Given the description of an element on the screen output the (x, y) to click on. 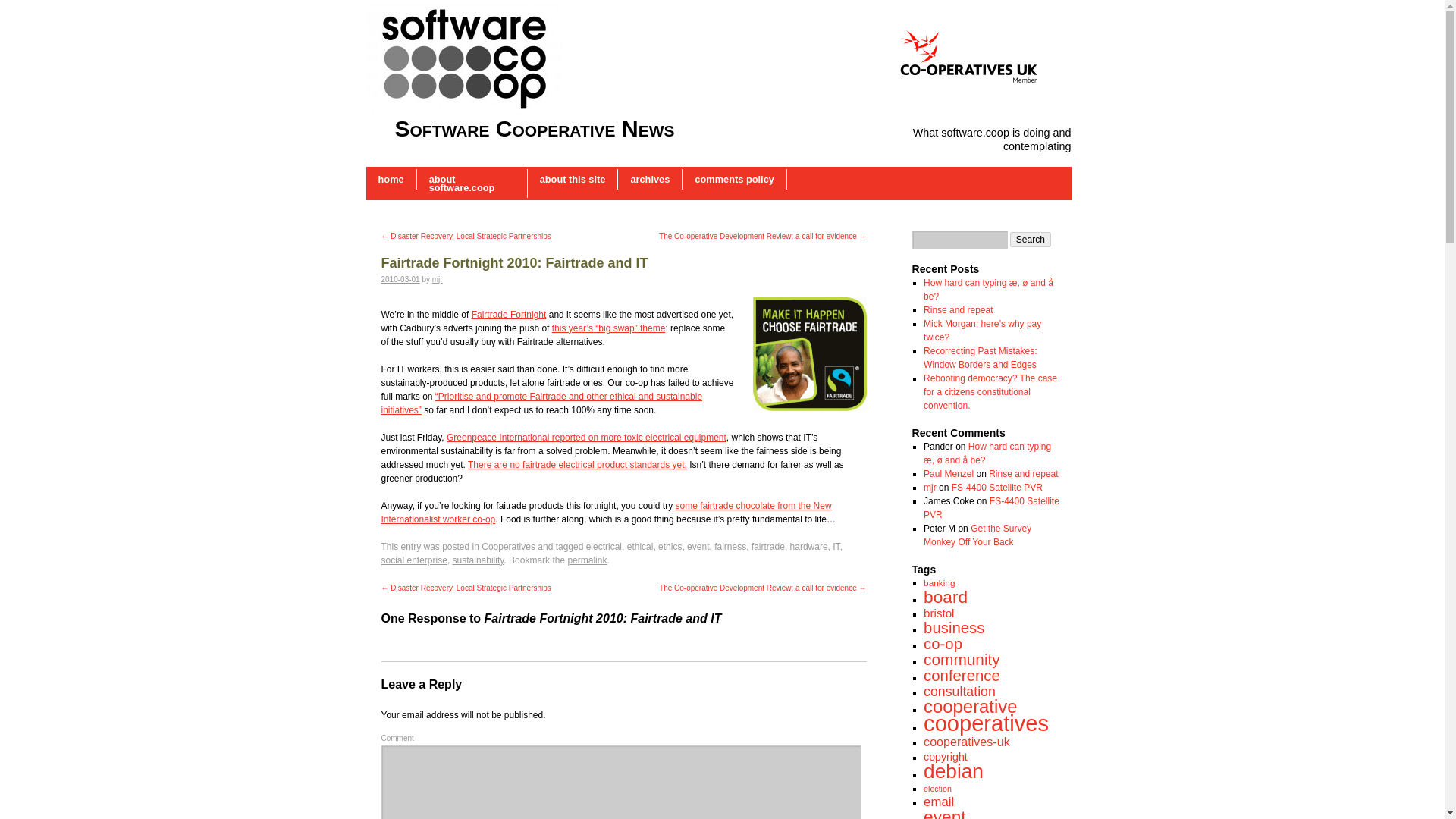
sustainability (477, 560)
Permalink to Fairtrade Fortnight 2010: Fairtrade and IT (587, 560)
fairtrade (767, 546)
2010-03-01 (399, 279)
Software Cooperative News (534, 128)
ethical (640, 546)
event (698, 546)
07:28 (399, 279)
about software.coop (471, 183)
ethics (669, 546)
There are no fairtrade electrical product standards yet. (577, 464)
Cooperatives (508, 546)
comments policy (734, 179)
social enterprise (413, 560)
